Given the description of an element on the screen output the (x, y) to click on. 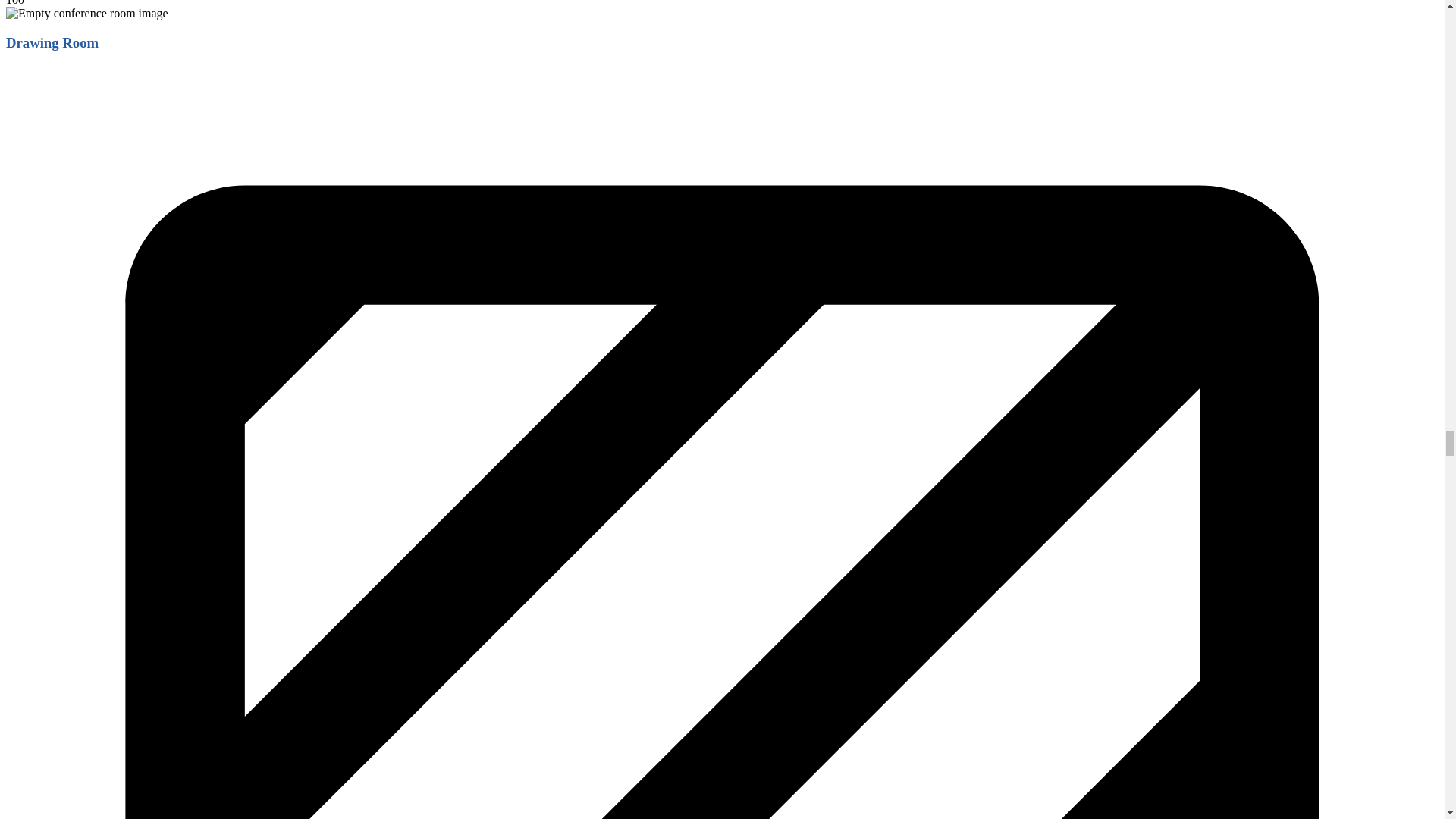
Empty conference room image (86, 13)
